Given the description of an element on the screen output the (x, y) to click on. 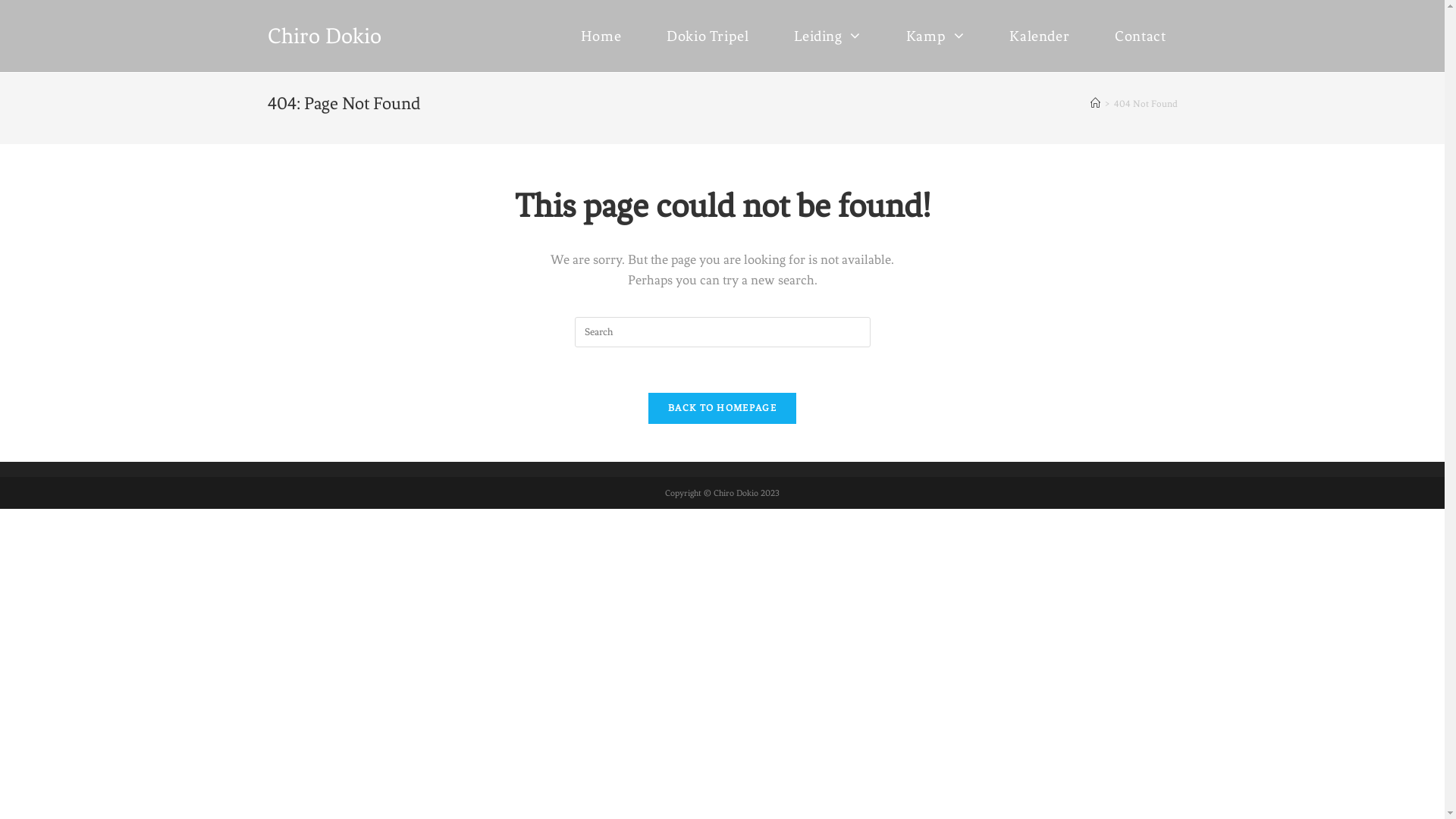
Chiro Dokio Element type: text (323, 35)
Dokio Tripel Element type: text (707, 36)
Kamp Element type: text (935, 36)
BACK TO HOMEPAGE Element type: text (722, 407)
Contact Element type: text (1140, 36)
Kalender Element type: text (1039, 36)
Home Element type: text (600, 36)
Leiding Element type: text (826, 36)
